Given the description of an element on the screen output the (x, y) to click on. 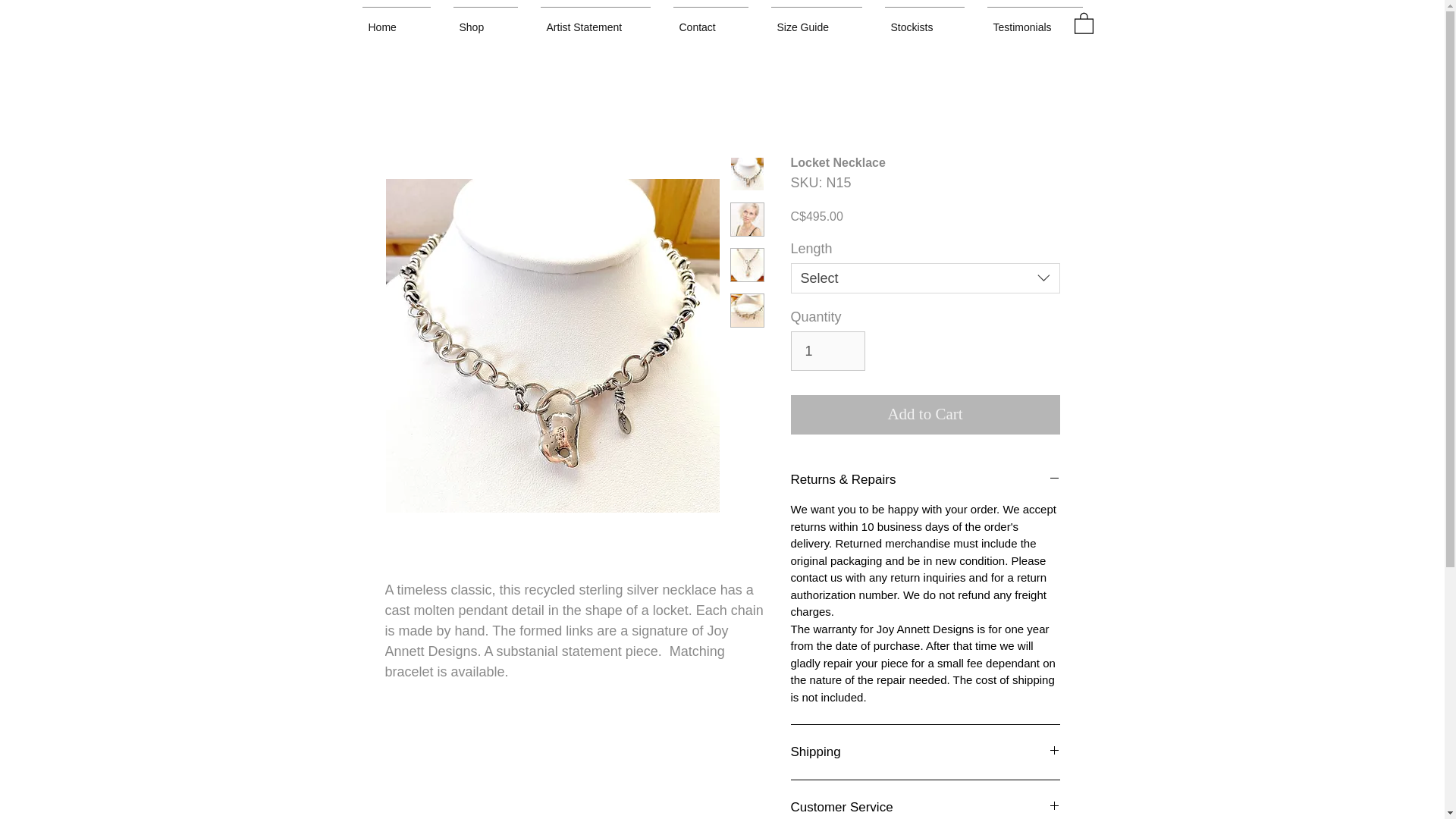
Shop (484, 20)
Stockists (924, 20)
Add to Cart (924, 414)
Home (395, 20)
Customer Service (924, 807)
Contact (709, 20)
1 (827, 351)
Select (924, 277)
Shipping (924, 751)
Testimonials (1034, 20)
